Given the description of an element on the screen output the (x, y) to click on. 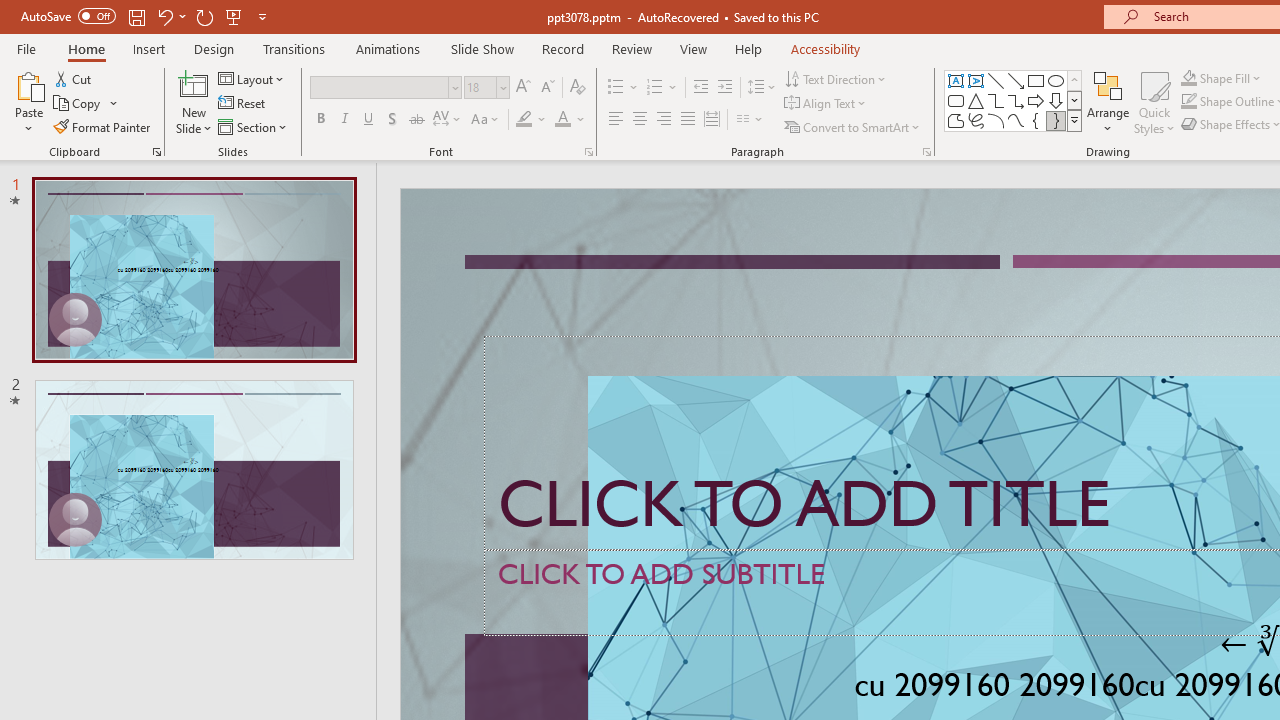
Shape Fill Dark Green, Accent 2 (1188, 78)
